Given the description of an element on the screen output the (x, y) to click on. 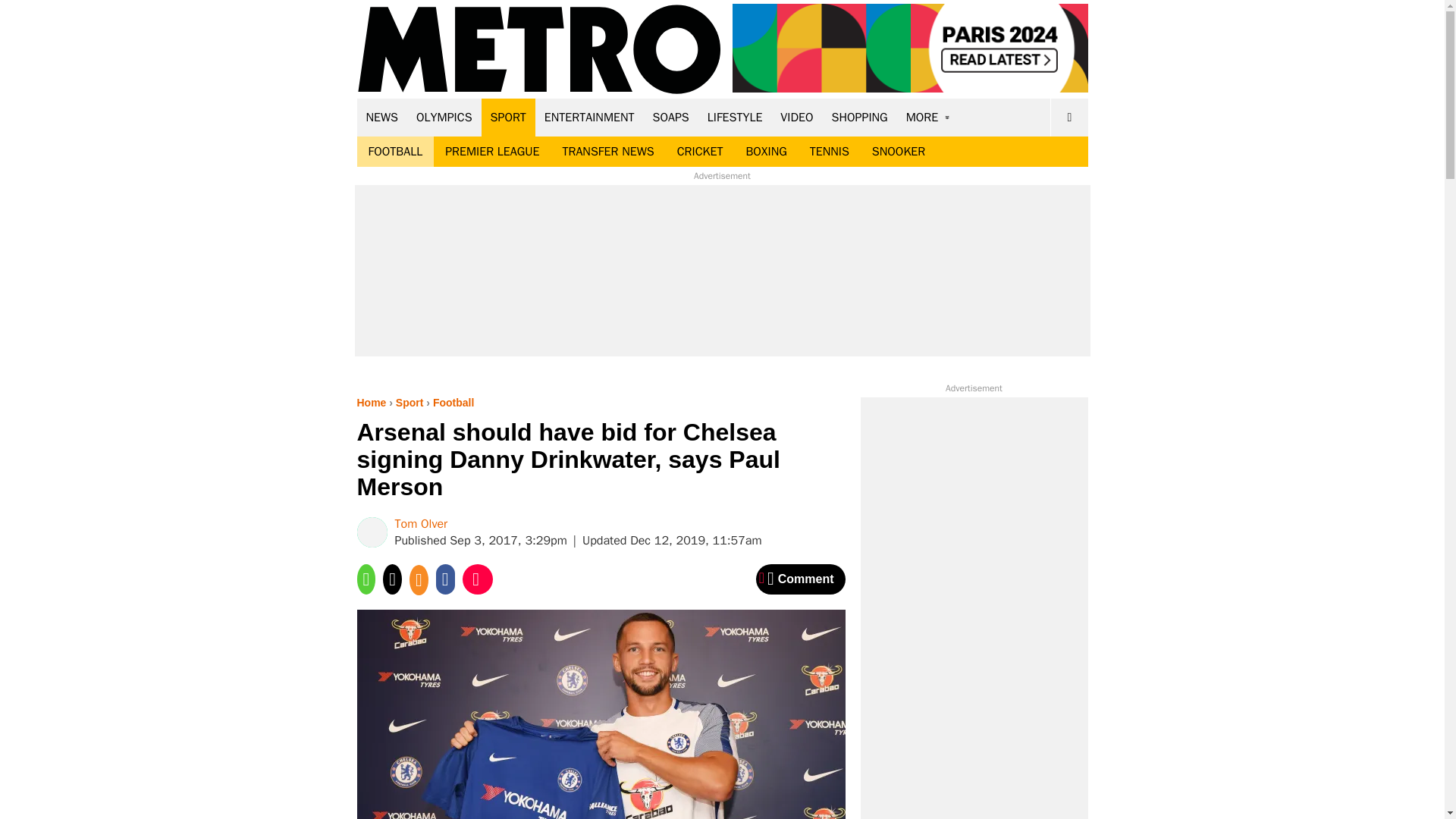
PREMIER LEAGUE (491, 151)
FOOTBALL (394, 151)
Metro (539, 50)
CRICKET (700, 151)
SPORT (508, 117)
TENNIS (828, 151)
OLYMPICS (444, 117)
ENTERTAINMENT (589, 117)
NEWS (381, 117)
BOXING (765, 151)
